Given the description of an element on the screen output the (x, y) to click on. 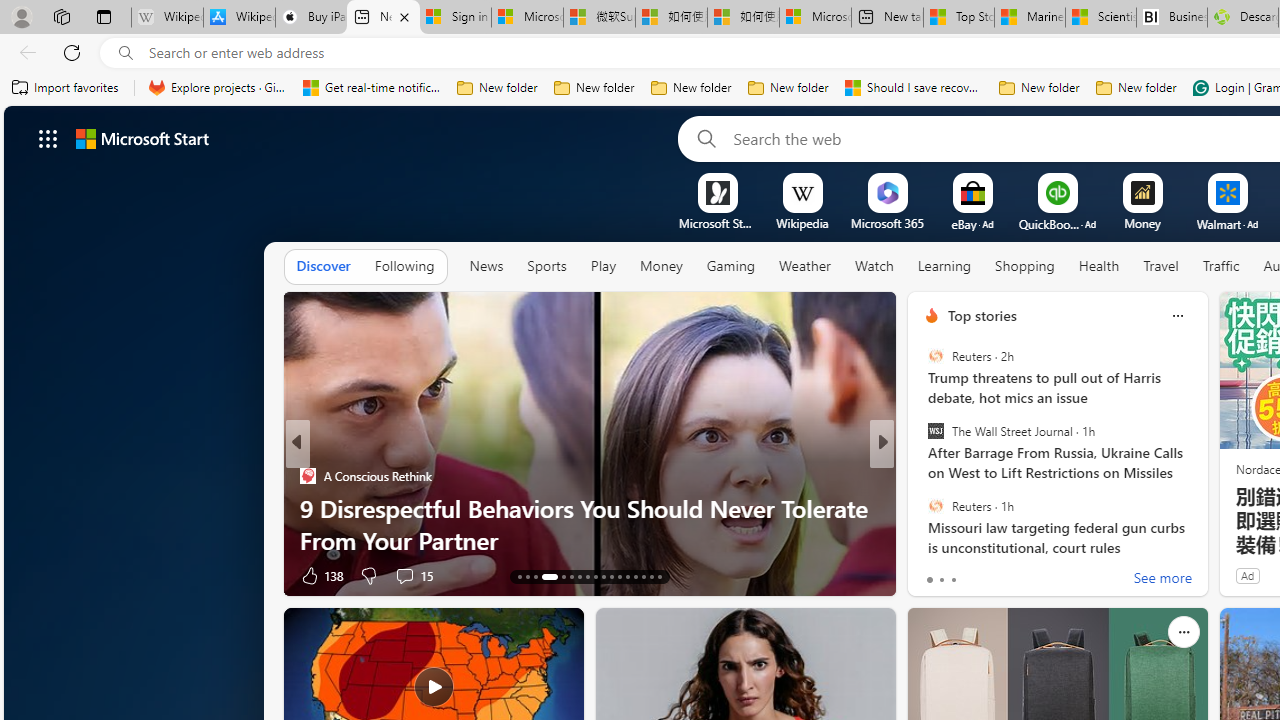
AutomationID: tab-23 (610, 576)
View comments 30 Comment (413, 574)
View comments 4 Comment (1014, 575)
AutomationID: tab-13 (518, 576)
Import favorites (65, 88)
This story is trending (842, 579)
